Given the description of an element on the screen output the (x, y) to click on. 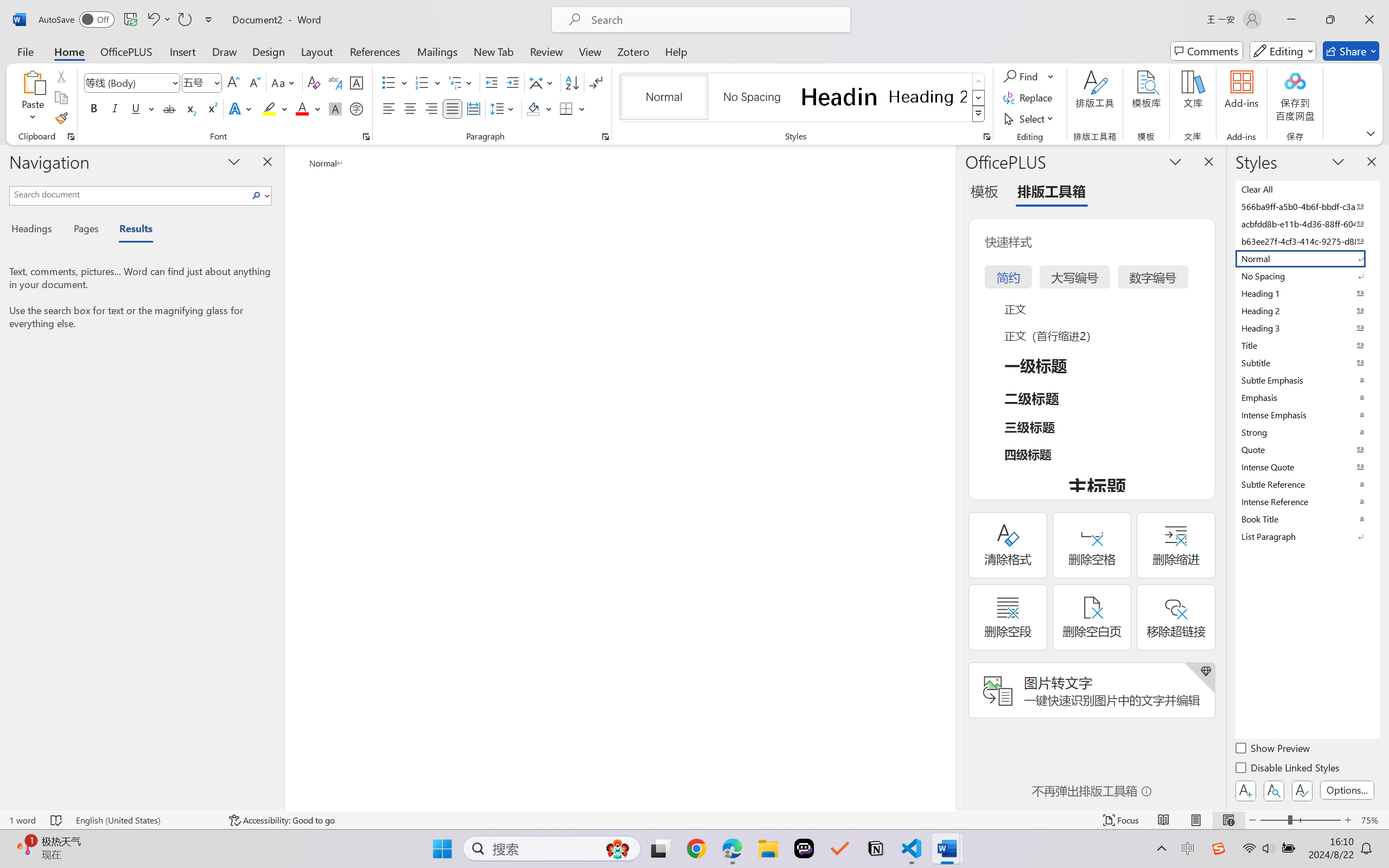
Font Color (308, 108)
Book Title (1306, 518)
Intense Emphasis (1306, 414)
Read Mode (1163, 819)
Bold (94, 108)
Minimize (1291, 19)
Grow Font (233, 82)
Format Painter (60, 118)
Align Left (388, 108)
Zoom In (1348, 819)
Align Right (431, 108)
